Given the description of an element on the screen output the (x, y) to click on. 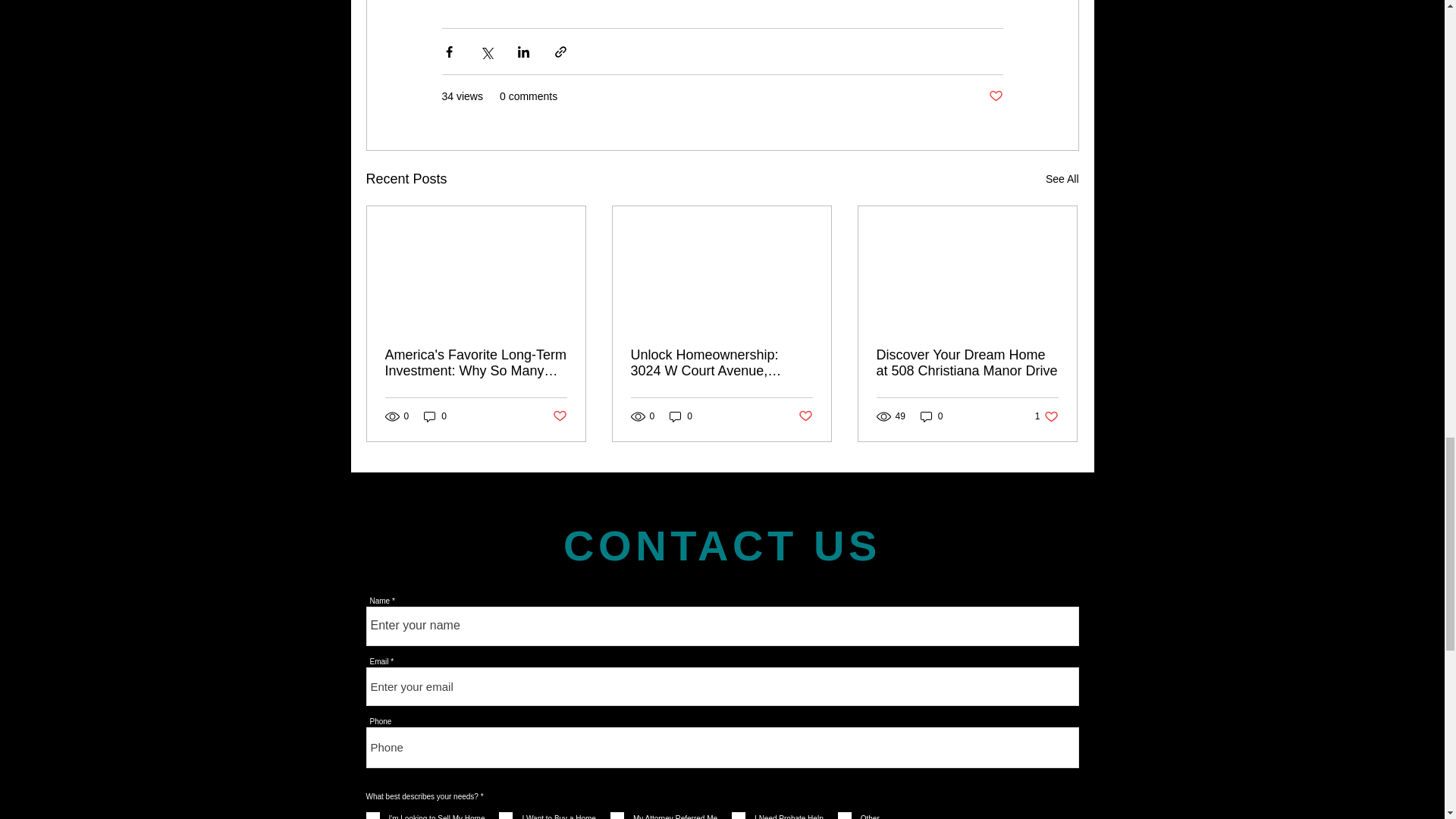
0 (931, 416)
0 (435, 416)
0 (681, 416)
Post not marked as liked (995, 96)
Post not marked as liked (804, 416)
Discover Your Dream Home at 508 Christiana Manor Drive (967, 363)
Post not marked as liked (558, 416)
See All (1061, 179)
